Given the description of an element on the screen output the (x, y) to click on. 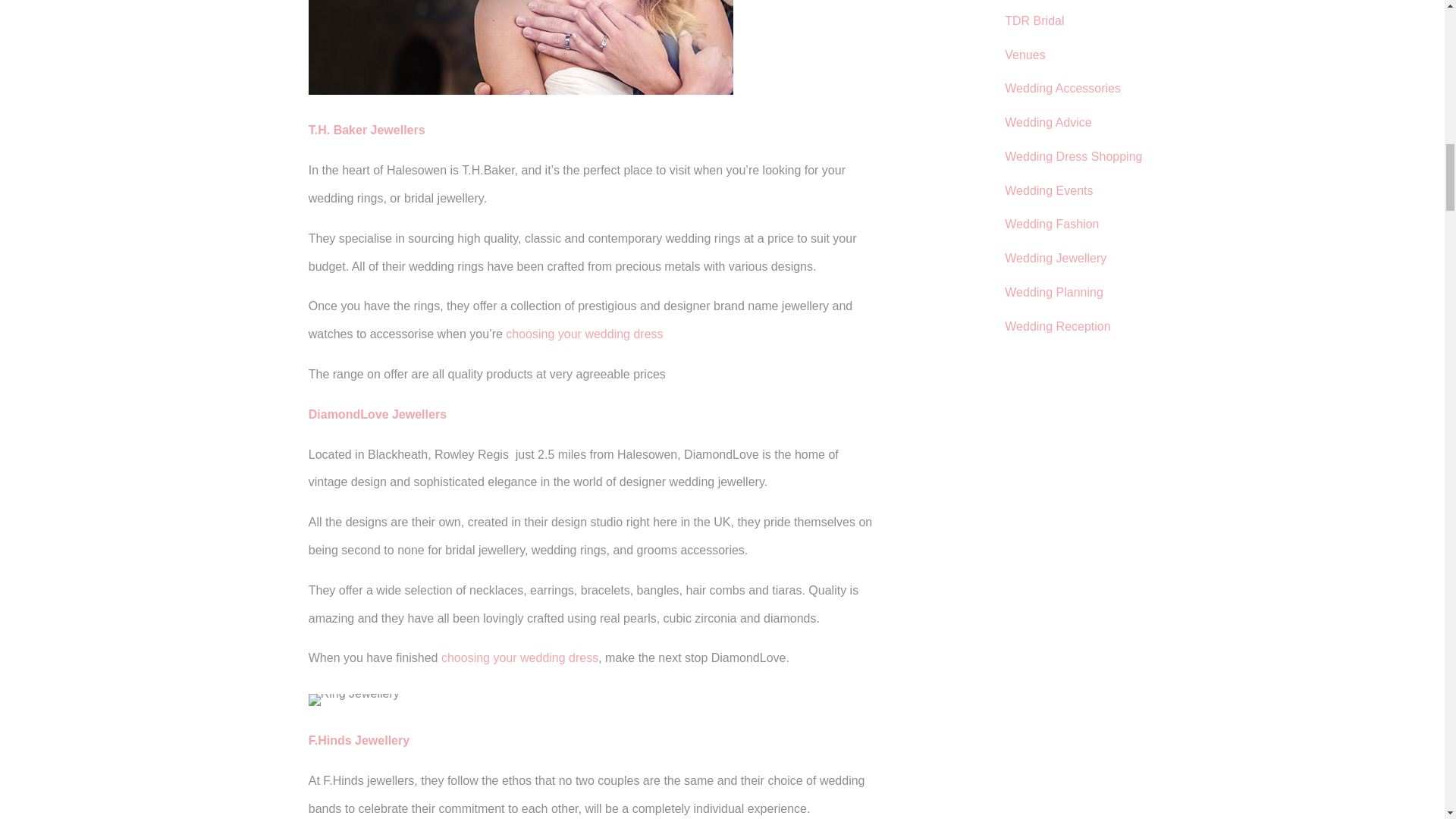
wedding jewellery (520, 47)
T.H. Baker Jewellers (366, 129)
Ring Jewellery (353, 699)
